Given the description of an element on the screen output the (x, y) to click on. 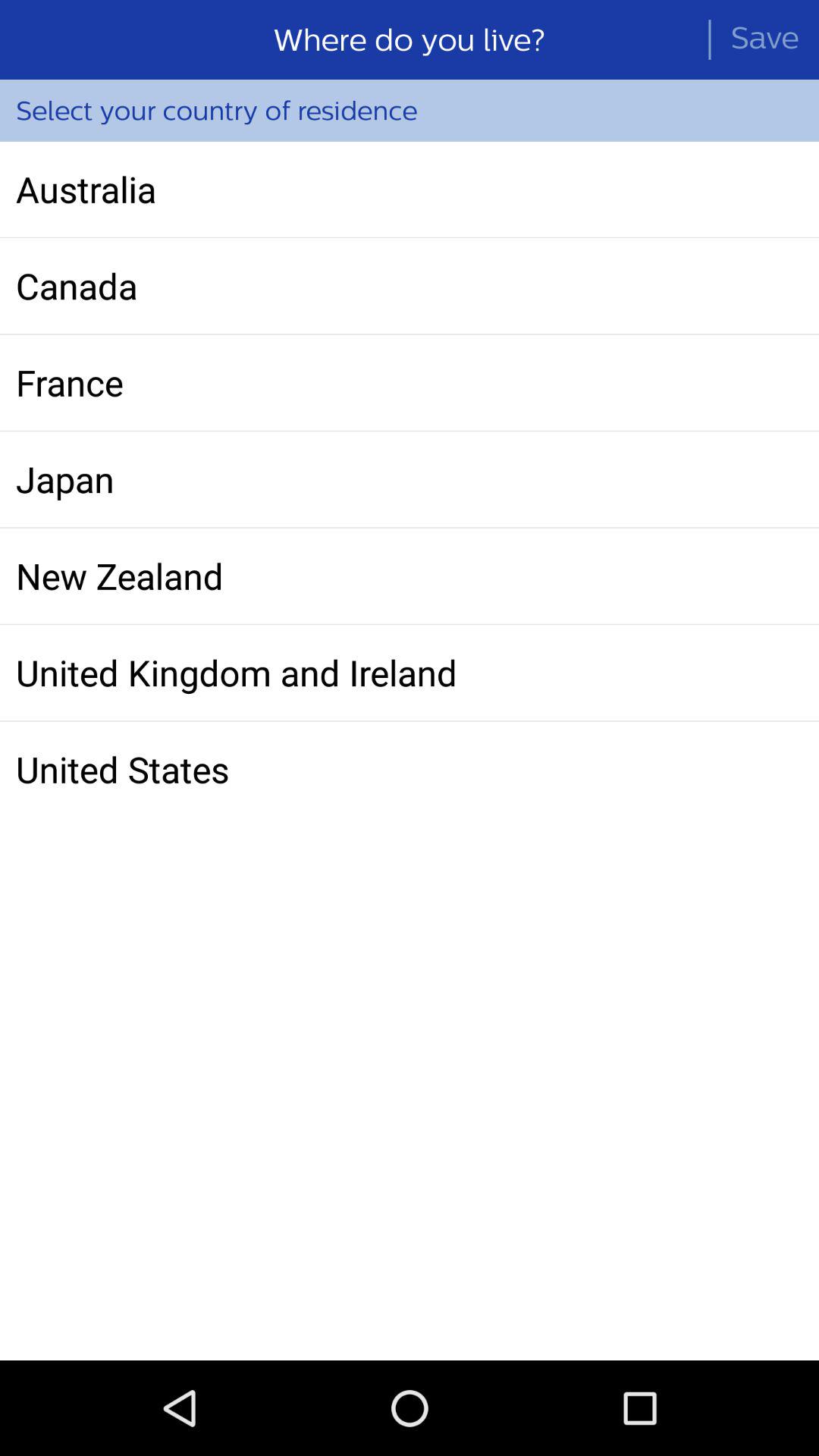
click icon below the new zealand (409, 672)
